Given the description of an element on the screen output the (x, y) to click on. 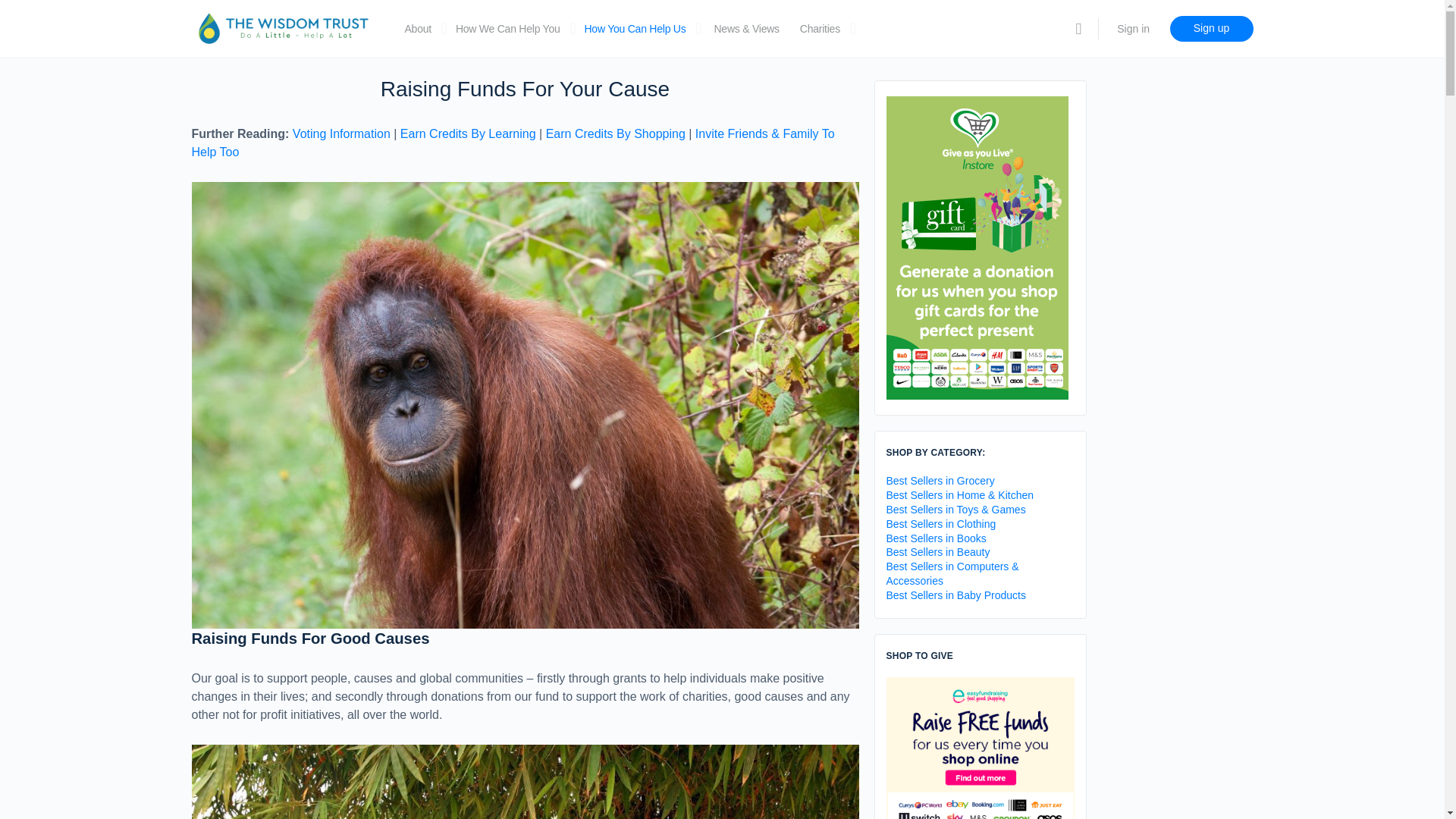
How You Can Help Us (634, 28)
How We Can Help You (507, 28)
Shop To Give (979, 754)
